Given the description of an element on the screen output the (x, y) to click on. 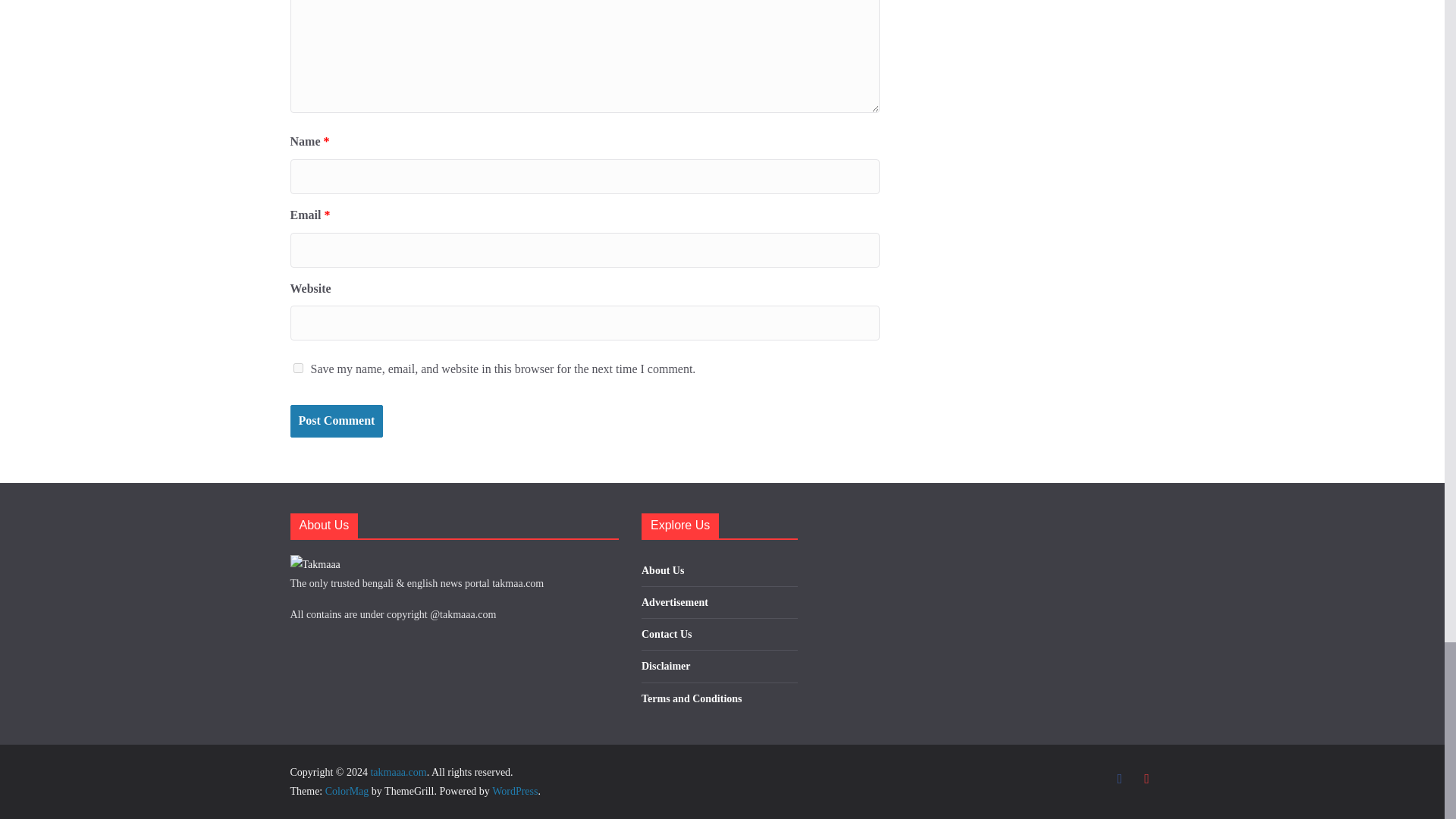
Post Comment (335, 420)
yes (297, 368)
